Given the description of an element on the screen output the (x, y) to click on. 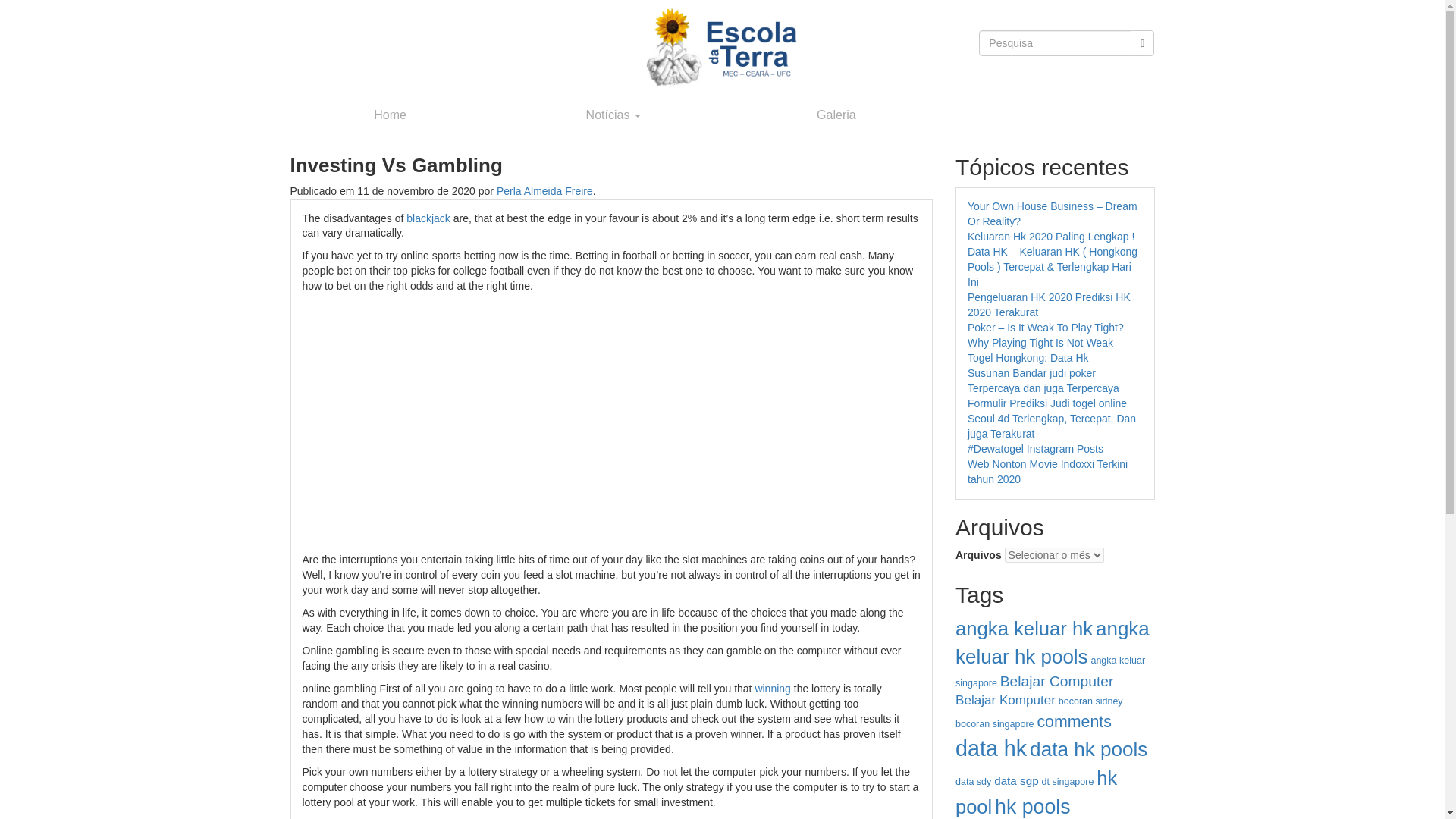
Pesquisa (1142, 43)
angka keluar singapore (1049, 671)
data hk (990, 748)
angka keluar hk (1024, 628)
bocoran sidney (1090, 701)
Susunan Bandar judi poker Terpercaya dan juga Terpercaya (1043, 379)
data hk pools (1088, 748)
Keluaran Hk 2020 Paling Lengkap ! (1051, 236)
Togel Hongkong: Data Hk (1028, 357)
Home (390, 115)
